Given the description of an element on the screen output the (x, y) to click on. 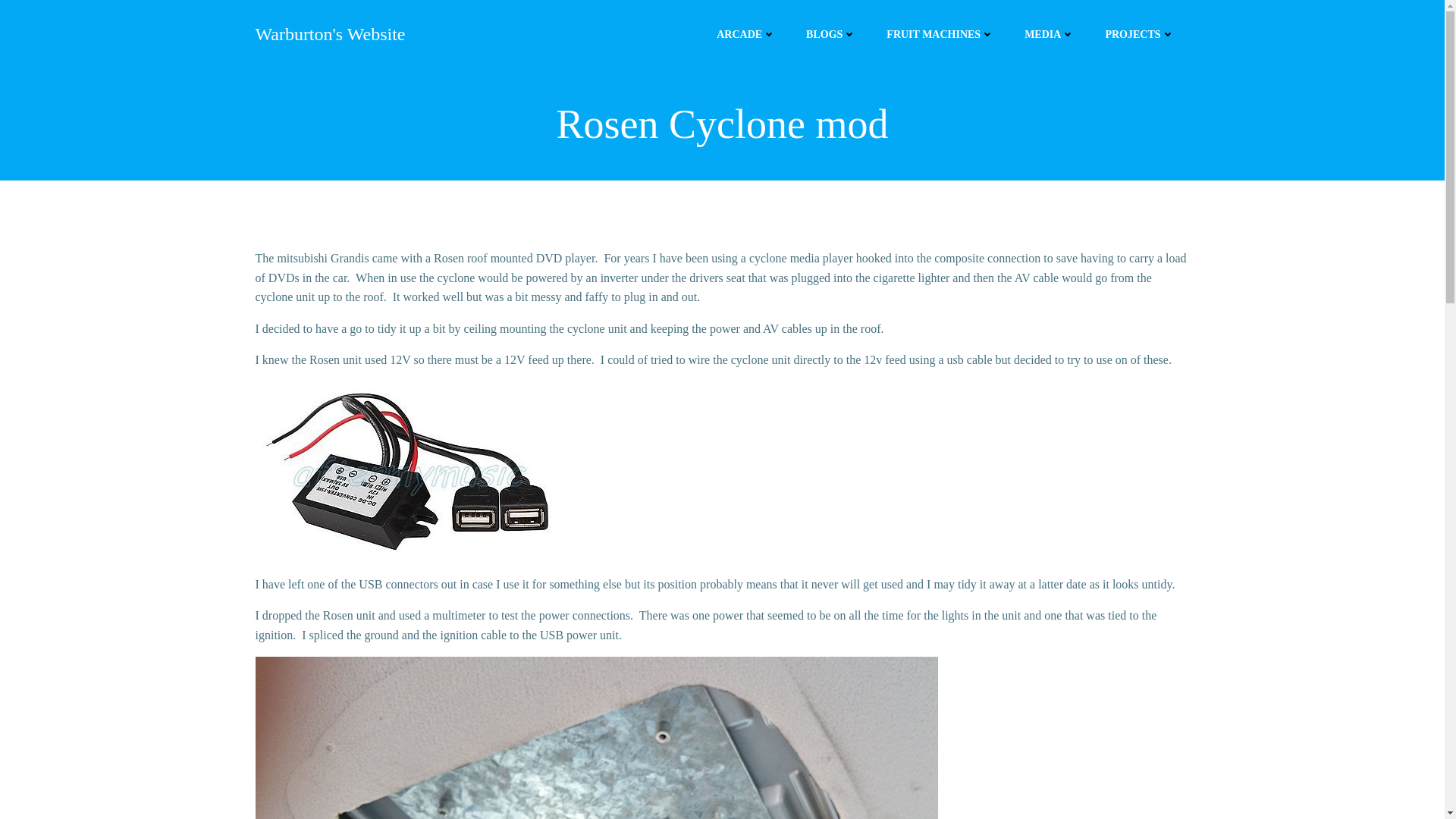
PROJECTS (1139, 33)
FRUIT MACHINES (940, 33)
MEDIA (1049, 33)
ARCADE (746, 33)
BLOGS (831, 33)
Warburton's Website (329, 33)
Colibri (887, 773)
